Given the description of an element on the screen output the (x, y) to click on. 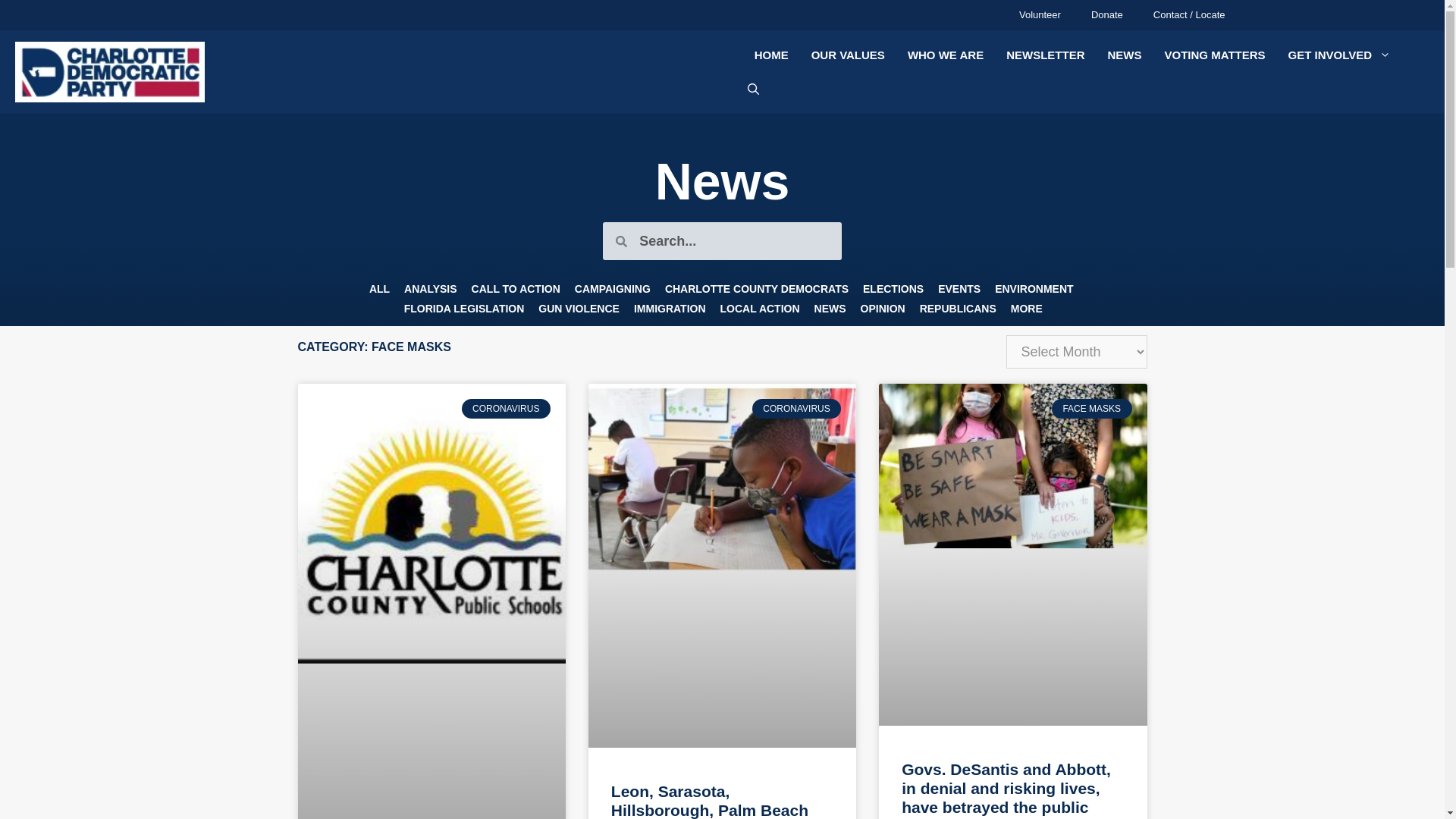
IMMIGRATION (669, 308)
ENVIRONMENT (1034, 288)
News (722, 180)
Volunteer (1039, 15)
CALL TO ACTION (515, 288)
CAMPAIGNING (612, 288)
ELECTIONS (892, 288)
NEWSLETTER (1045, 54)
ANALYSIS (430, 288)
Donate (1106, 15)
